Given the description of an element on the screen output the (x, y) to click on. 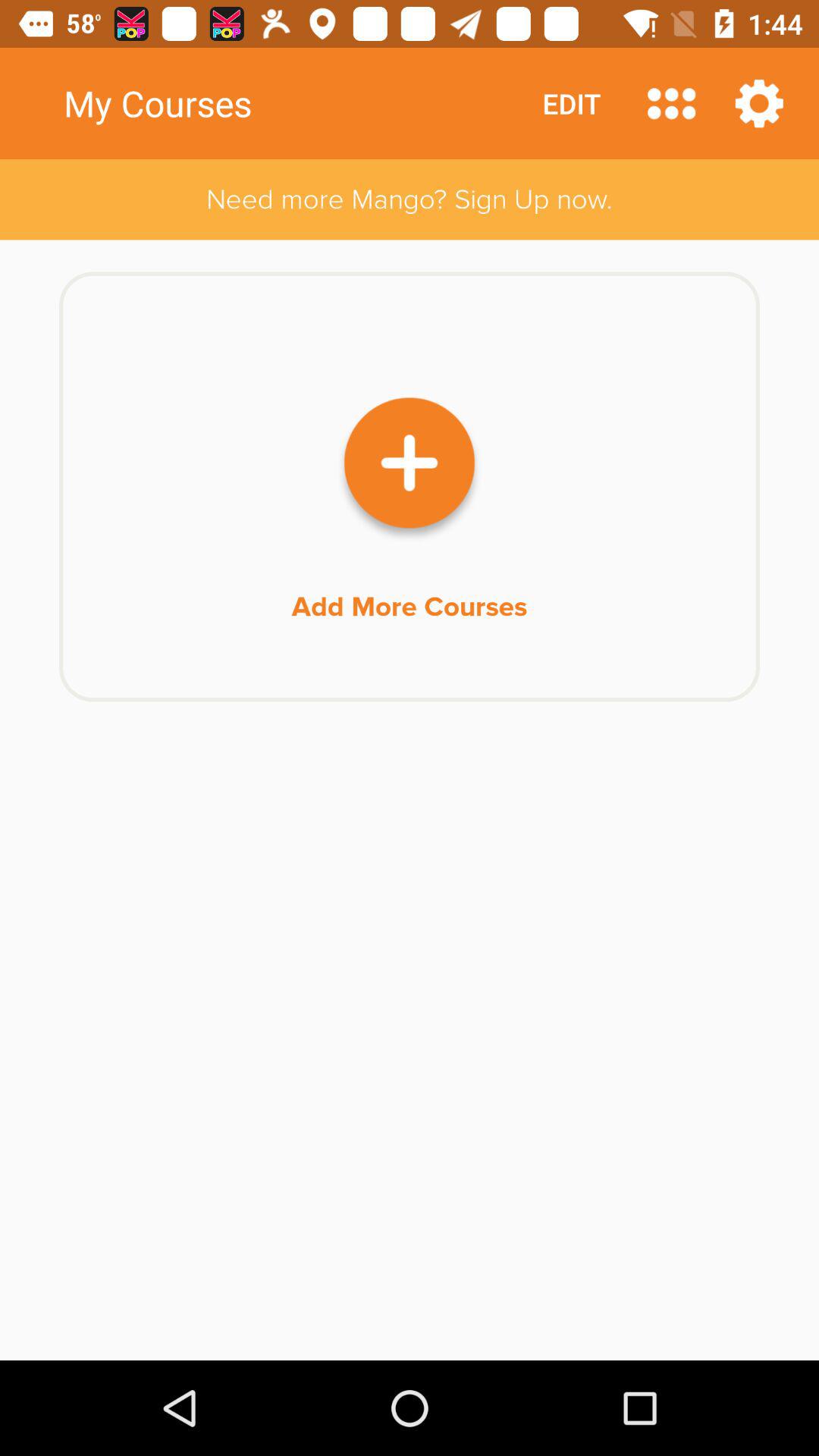
tap item above the need more mango (759, 103)
